Given the description of an element on the screen output the (x, y) to click on. 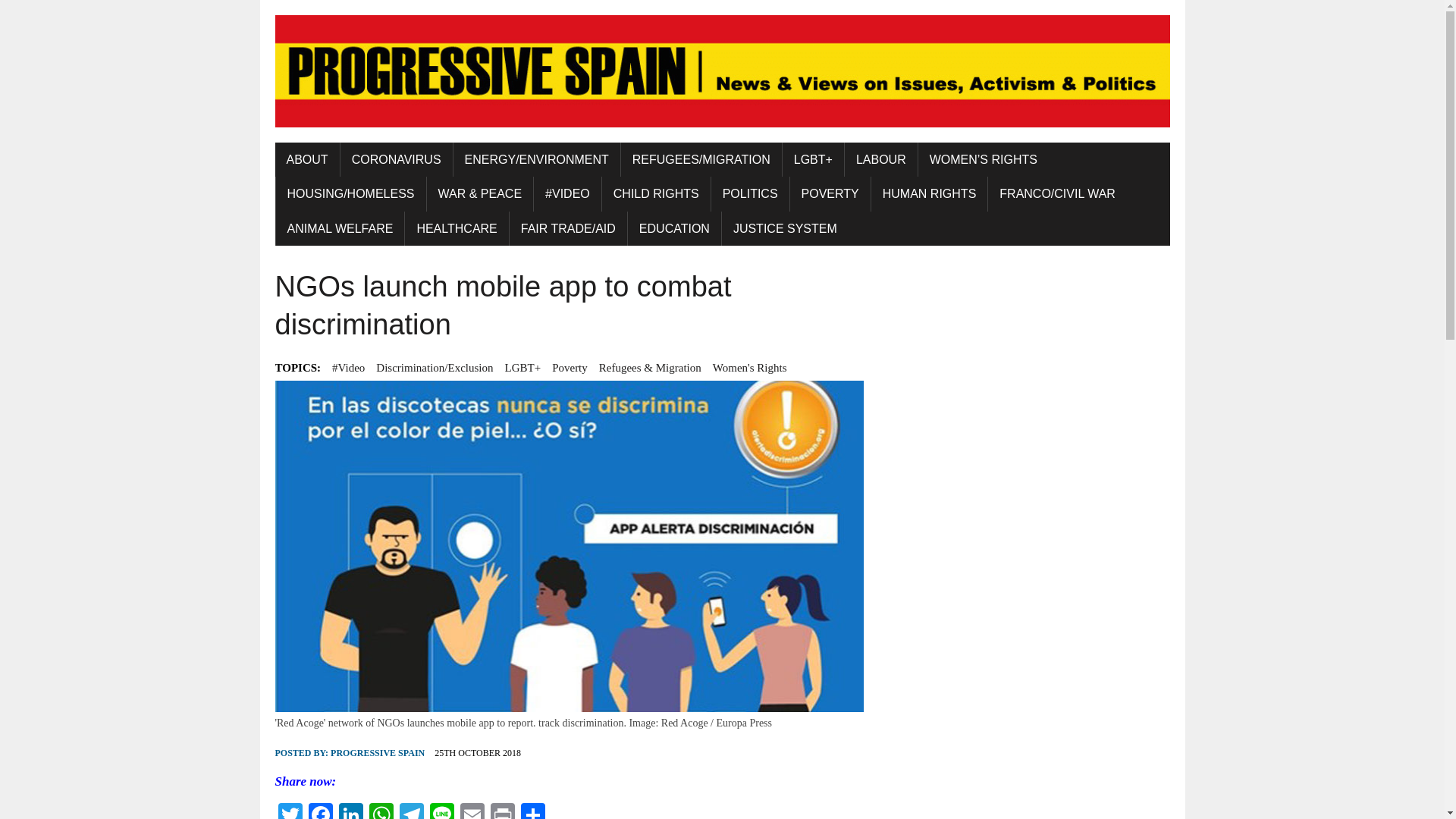
ANIMAL WELFARE (340, 228)
LABOUR (880, 159)
ABOUT (307, 159)
Print (501, 811)
WhatsApp (380, 811)
LinkedIn (349, 811)
HEALTHCARE (456, 228)
POLITICS (750, 193)
CHILD RIGHTS (656, 193)
Progressive Spain (722, 71)
CORONAVIRUS (396, 159)
HUMAN RIGHTS (929, 193)
Twitter (289, 811)
POVERTY (830, 193)
Telegram (411, 811)
